Given the description of an element on the screen output the (x, y) to click on. 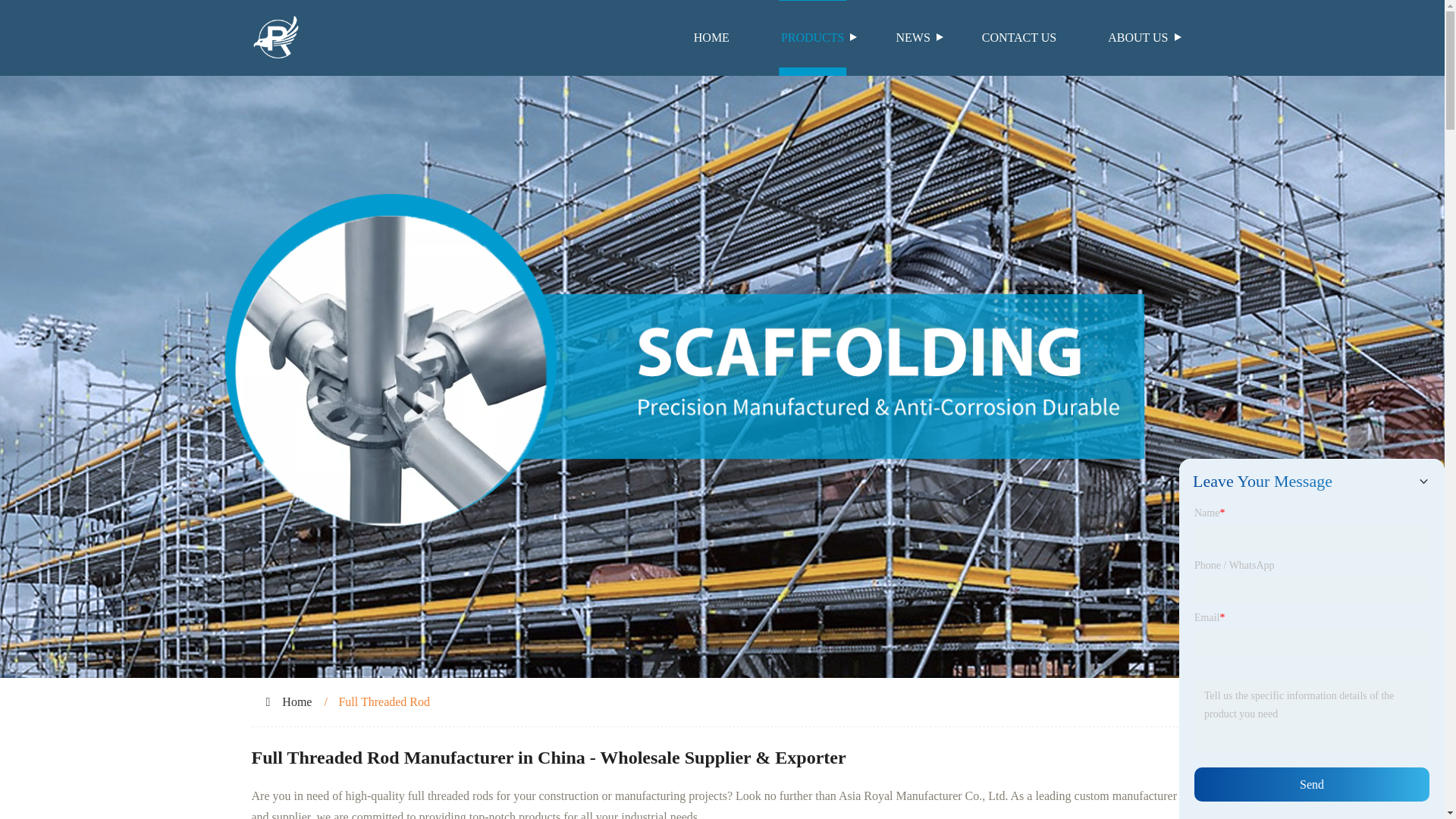
CONTACT US (1018, 38)
NEWS (912, 38)
Home (296, 701)
HOME (711, 38)
PRODUCTS (812, 38)
ABOUT US (1137, 38)
